Given the description of an element on the screen output the (x, y) to click on. 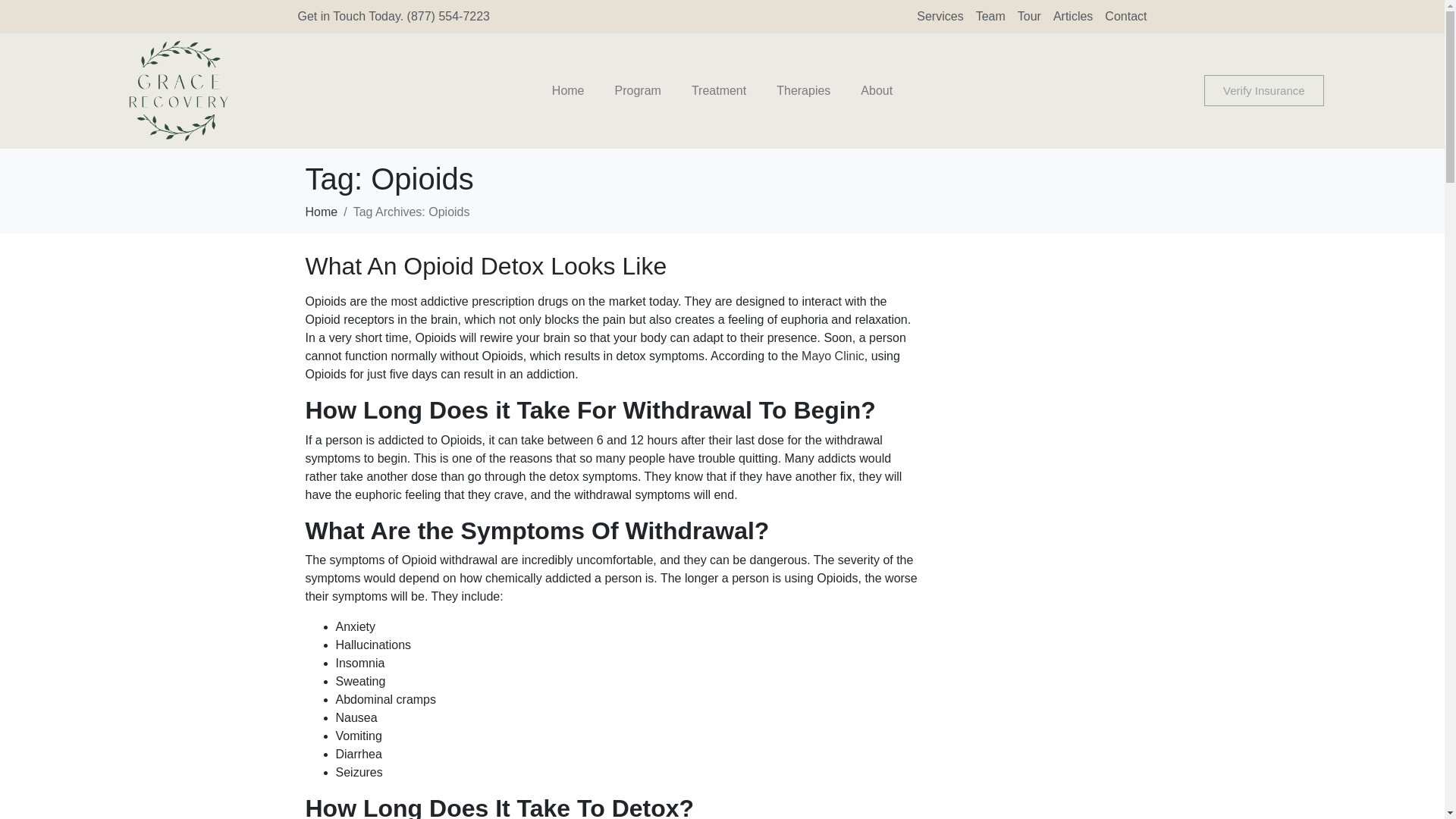
Articles (1072, 16)
What An Opioid Detox Looks Like (485, 266)
Contact (1126, 16)
Program (638, 90)
Team (990, 16)
Tour (1029, 16)
Services (939, 16)
About (876, 90)
Therapies (803, 90)
Treatment (719, 90)
